Given the description of an element on the screen output the (x, y) to click on. 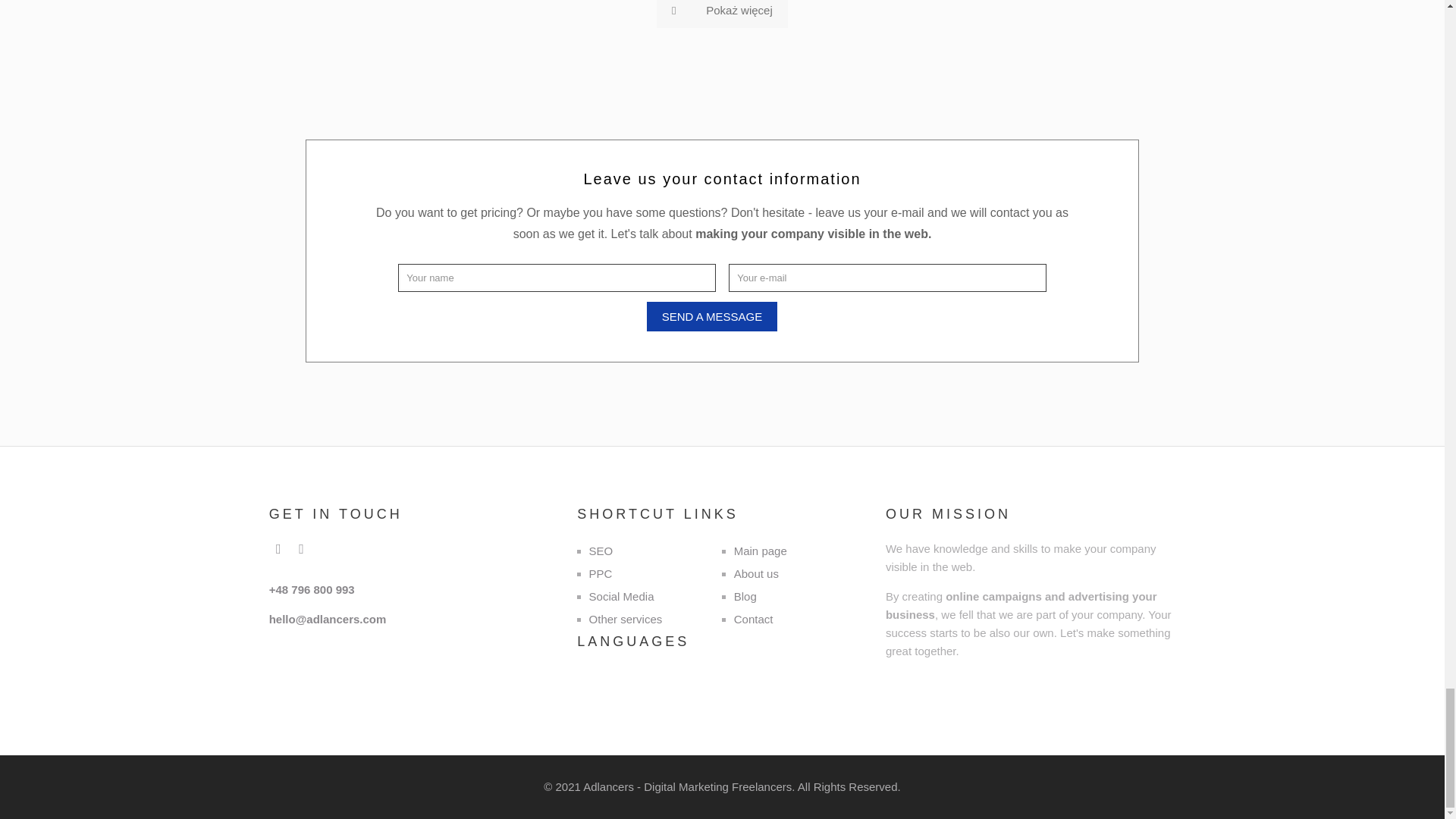
SEND A MESSAGE (711, 316)
